Given the description of an element on the screen output the (x, y) to click on. 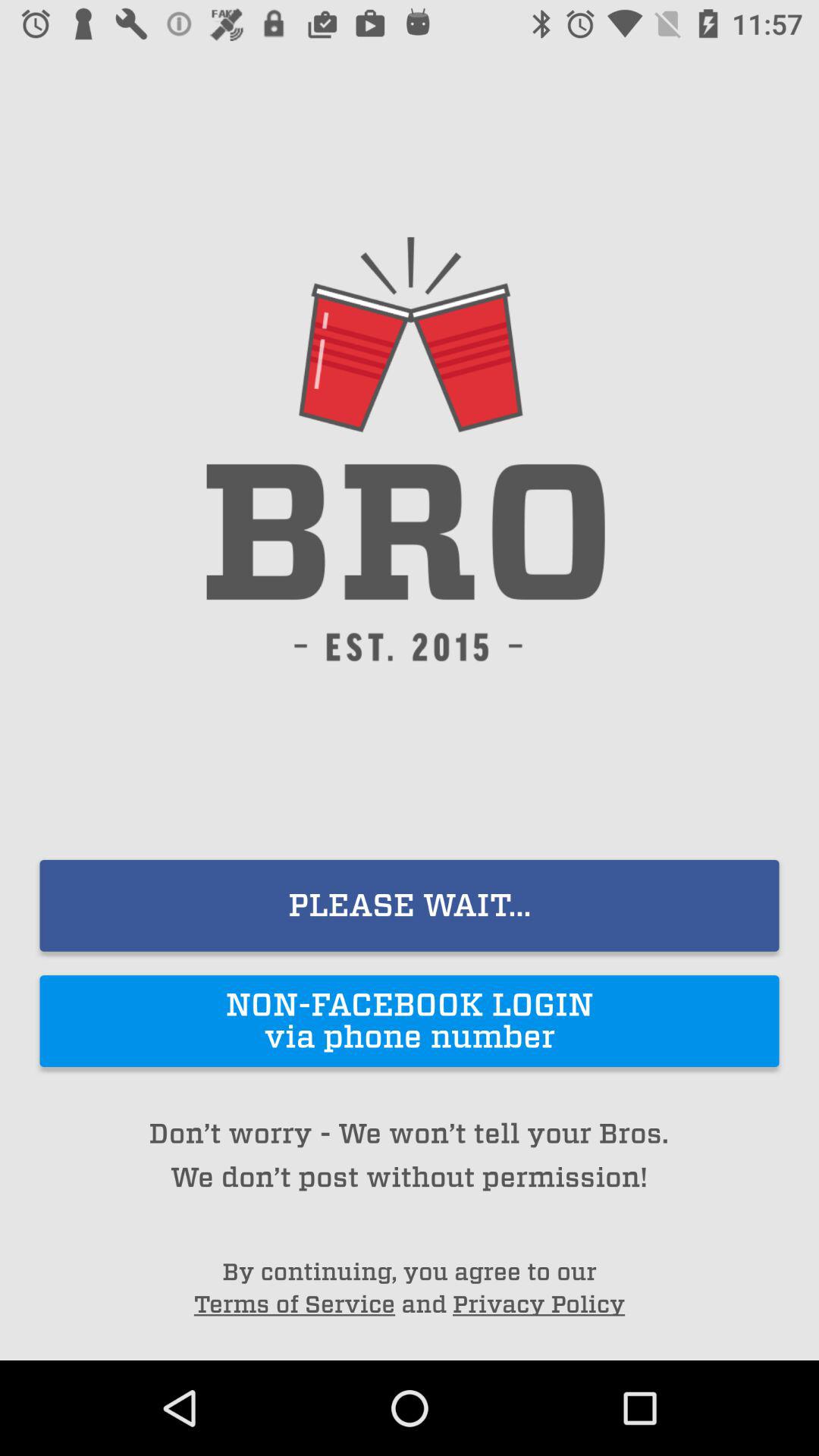
select icon to the right of the  and  icon (538, 1304)
